Given the description of an element on the screen output the (x, y) to click on. 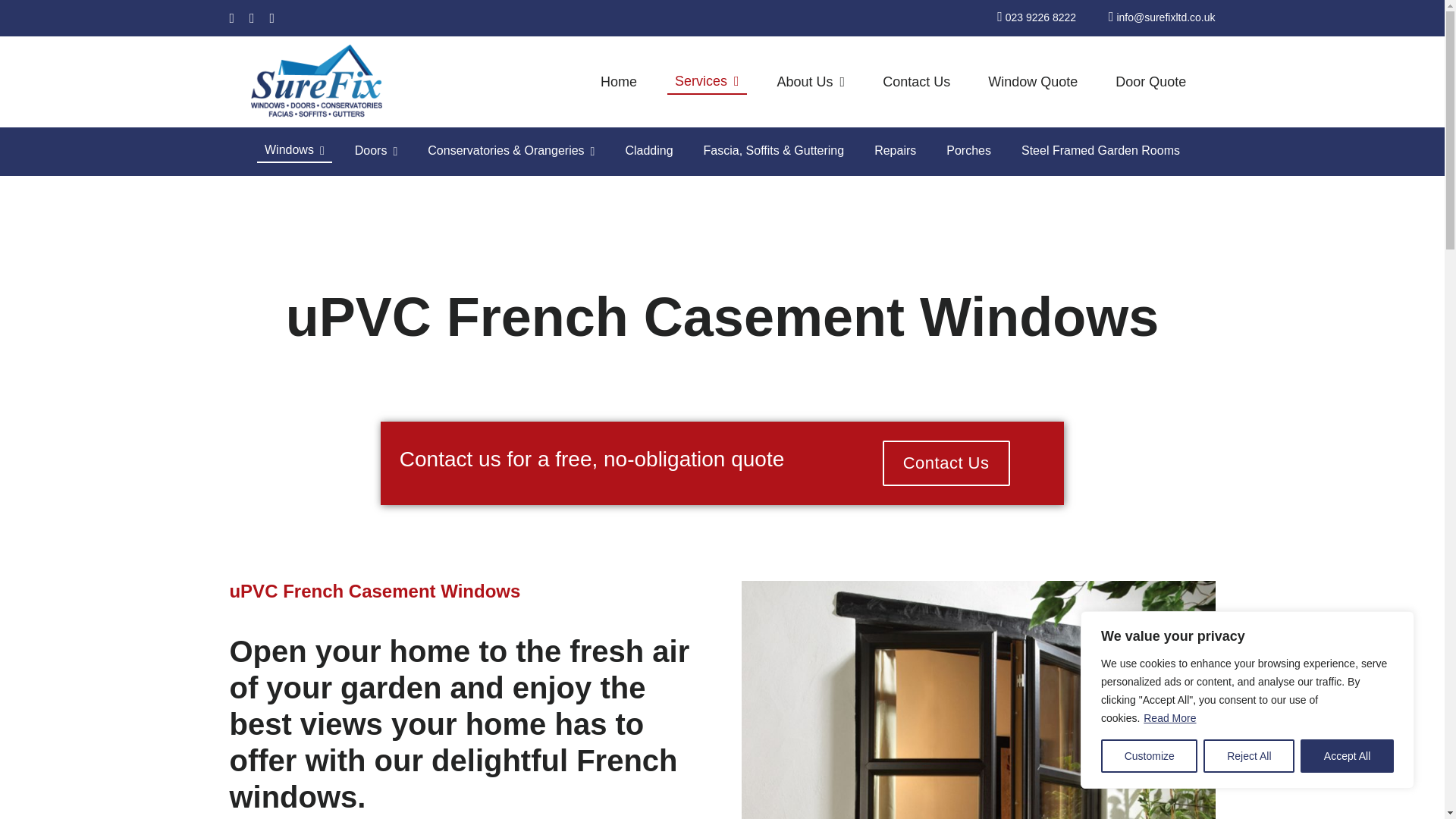
Accept All (1346, 756)
Read More (1169, 717)
Reject All (1249, 756)
Customize (1148, 756)
Home (618, 81)
Services (706, 81)
